Given the description of an element on the screen output the (x, y) to click on. 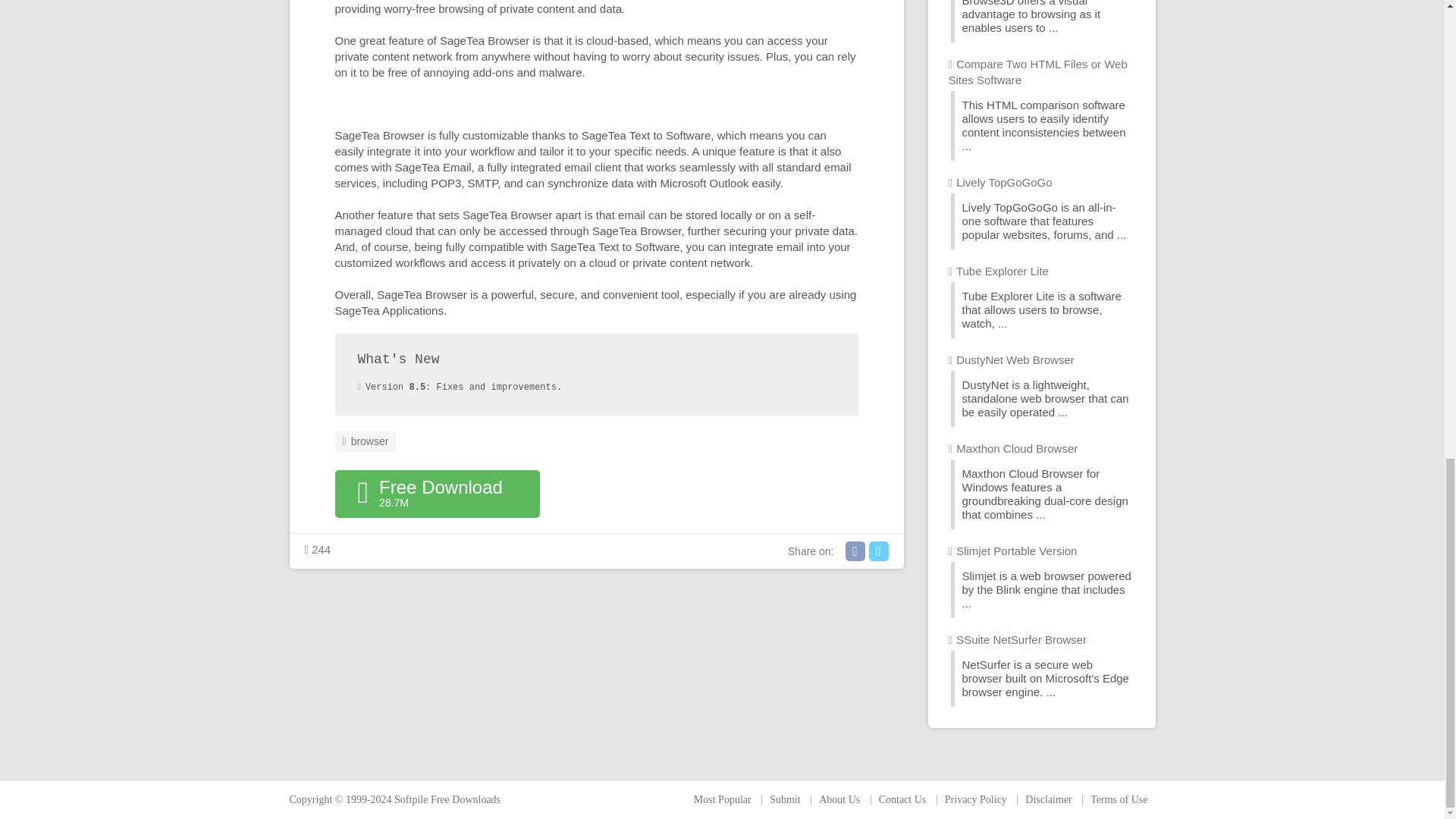
Download SageTea Browser 8.5 (437, 494)
